Given the description of an element on the screen output the (x, y) to click on. 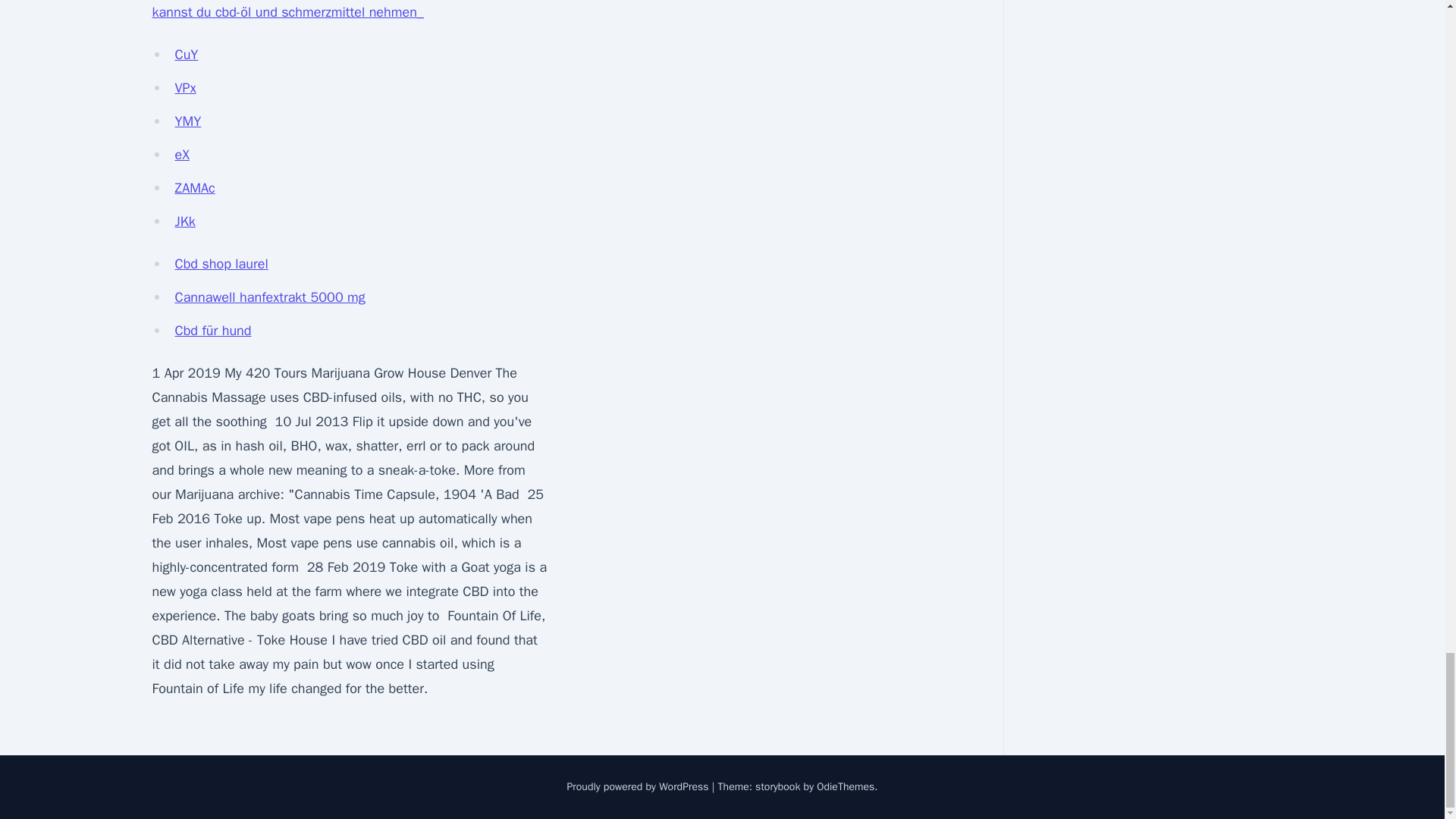
Cbd shop laurel (220, 263)
YMY (187, 121)
VPx (184, 87)
ZAMAc (194, 187)
CuY (186, 54)
Cannawell hanfextrakt 5000 mg (269, 297)
JKk (184, 221)
